Given the description of an element on the screen output the (x, y) to click on. 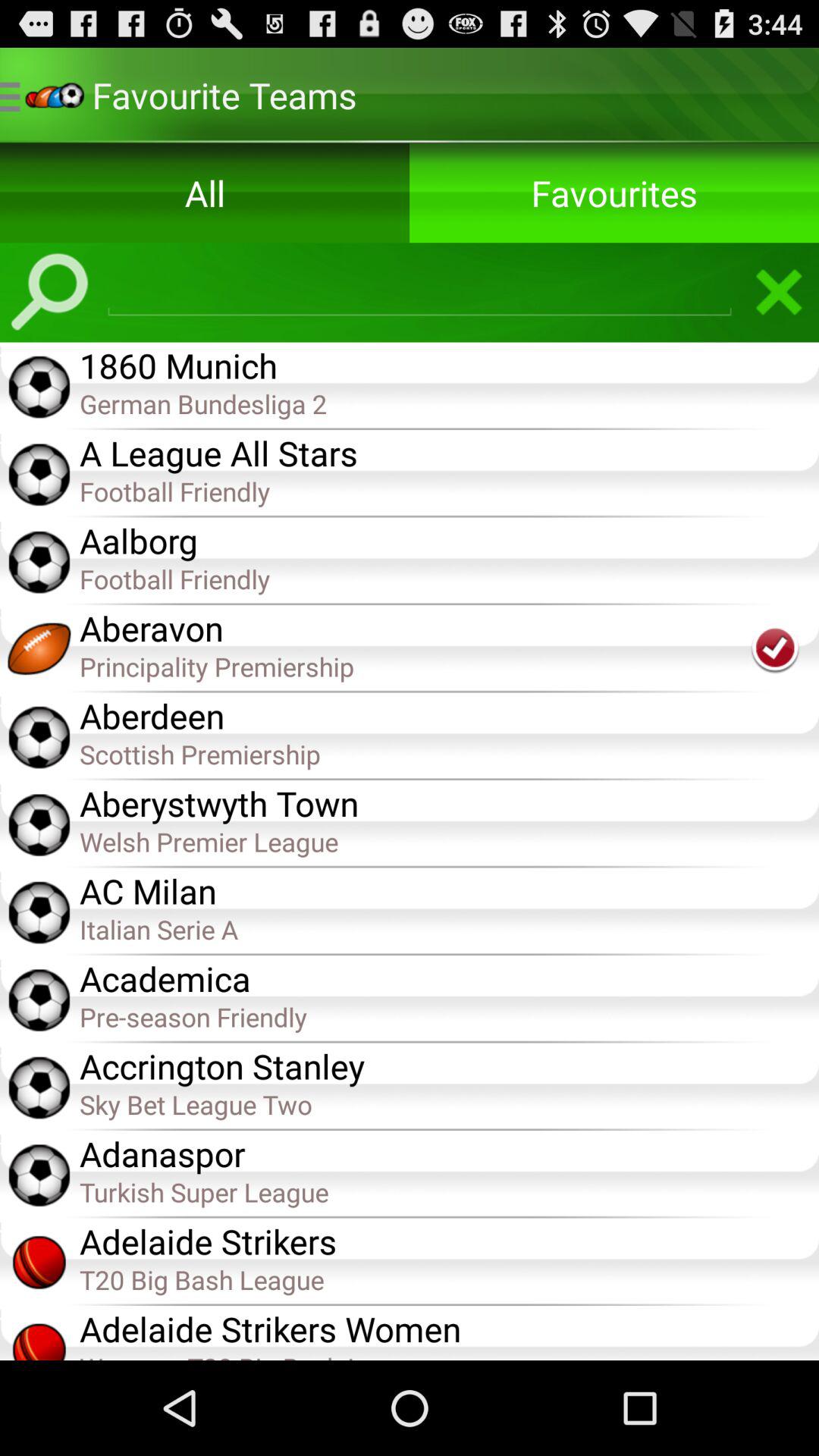
turn on the icon above german bundesliga 2 (449, 364)
